Given the description of an element on the screen output the (x, y) to click on. 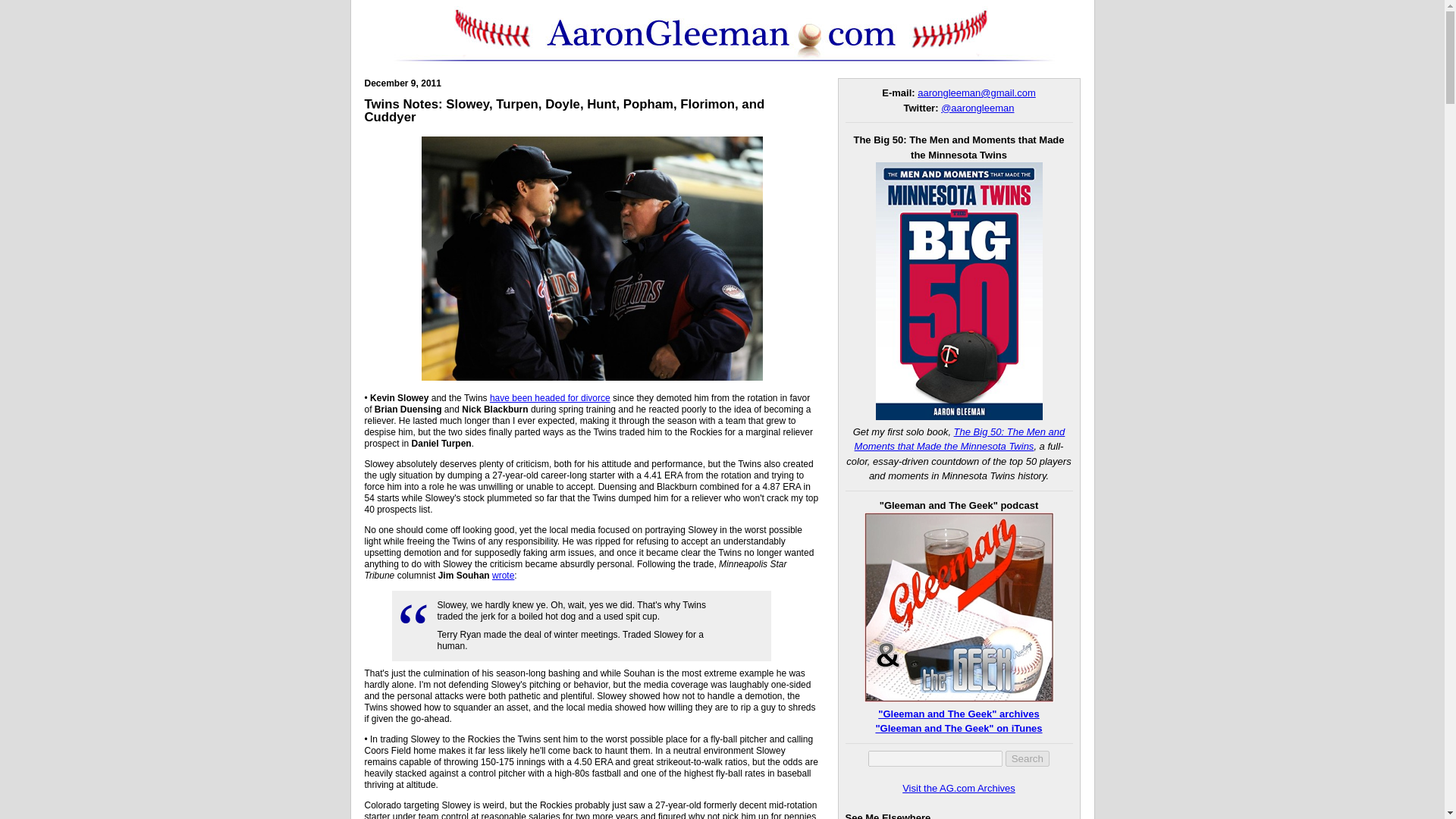
have been headed for divorce (549, 398)
Search (1027, 758)
wrote (502, 575)
